Given the description of an element on the screen output the (x, y) to click on. 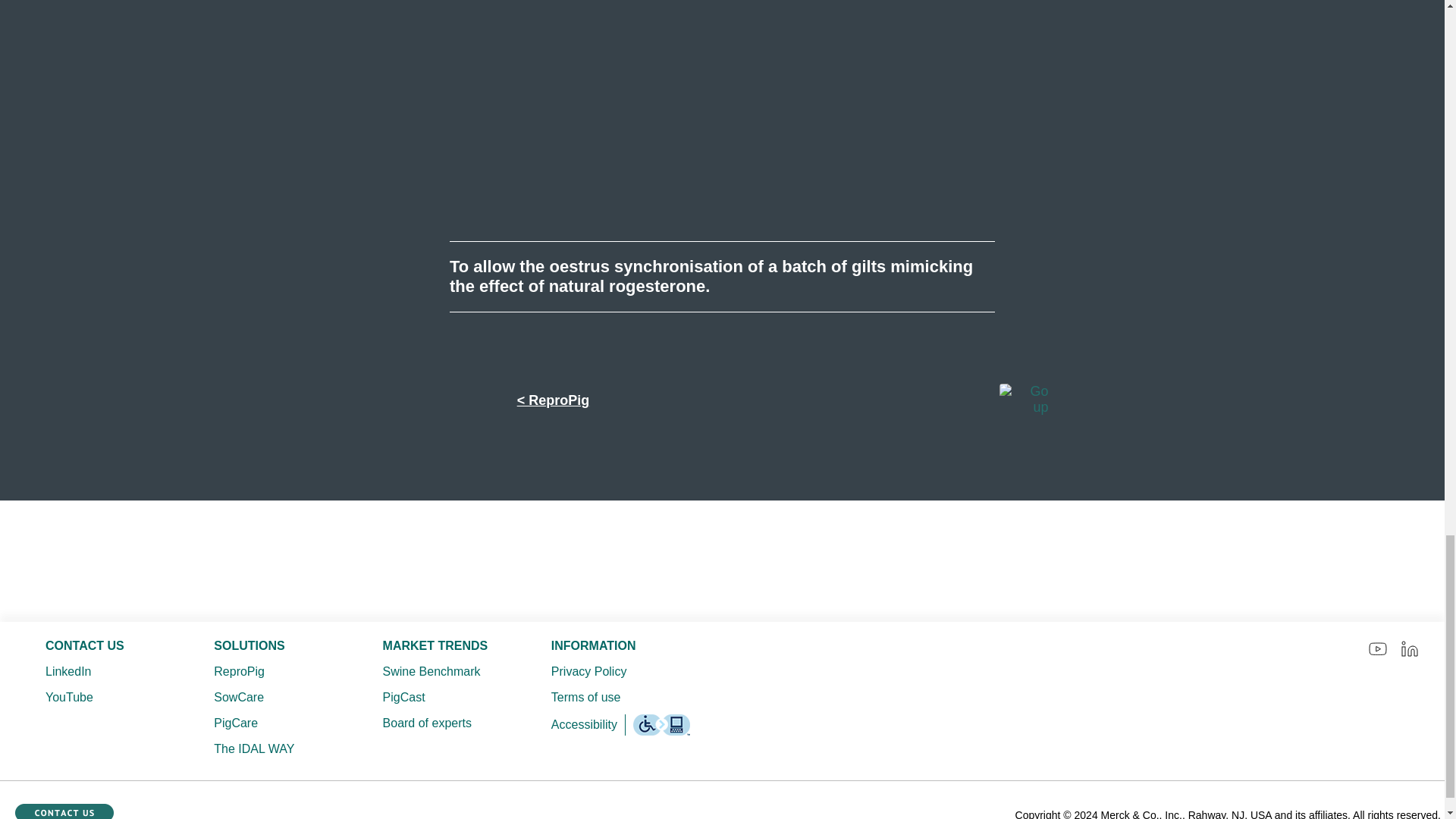
YouTube (99, 697)
LinkedIn (99, 671)
